Given the description of an element on the screen output the (x, y) to click on. 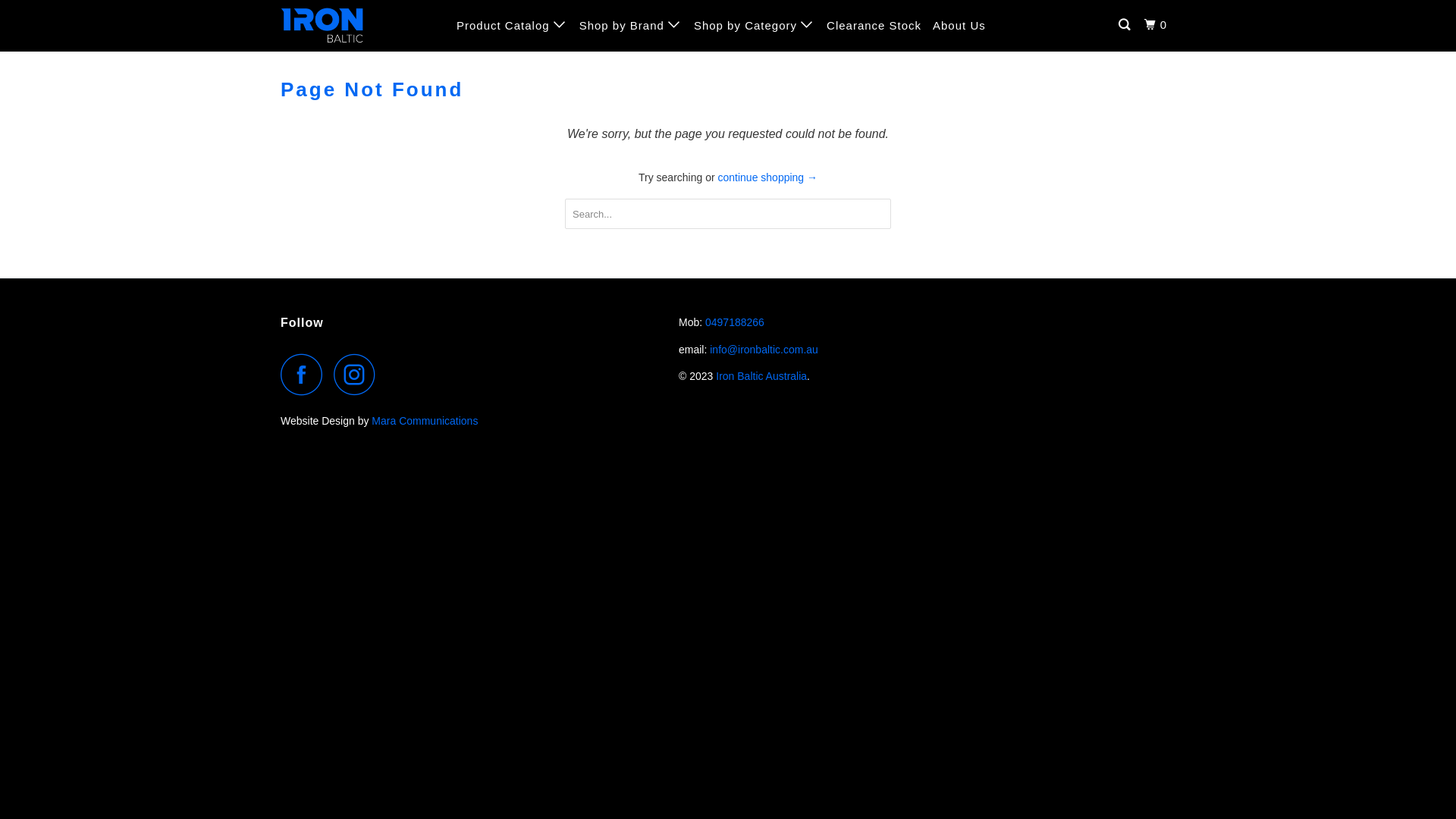
Search Element type: hover (1125, 24)
Product Catalog Element type: text (512, 24)
Iron Baltic Australia on Facebook Element type: hover (305, 374)
Iron Baltic Australia Element type: hover (358, 25)
0 Element type: text (1157, 24)
Clearance Stock Element type: text (873, 25)
About Us Element type: text (958, 25)
Mara Communications Element type: text (424, 420)
Shop by Brand Element type: text (630, 24)
0497188266 Element type: text (734, 322)
Shop by Category Element type: text (754, 24)
info@ironbaltic.com.au Element type: text (763, 349)
Iron Baltic Australia Element type: text (760, 376)
Iron Baltic Australia on Instagram Element type: hover (358, 374)
